Given the description of an element on the screen output the (x, y) to click on. 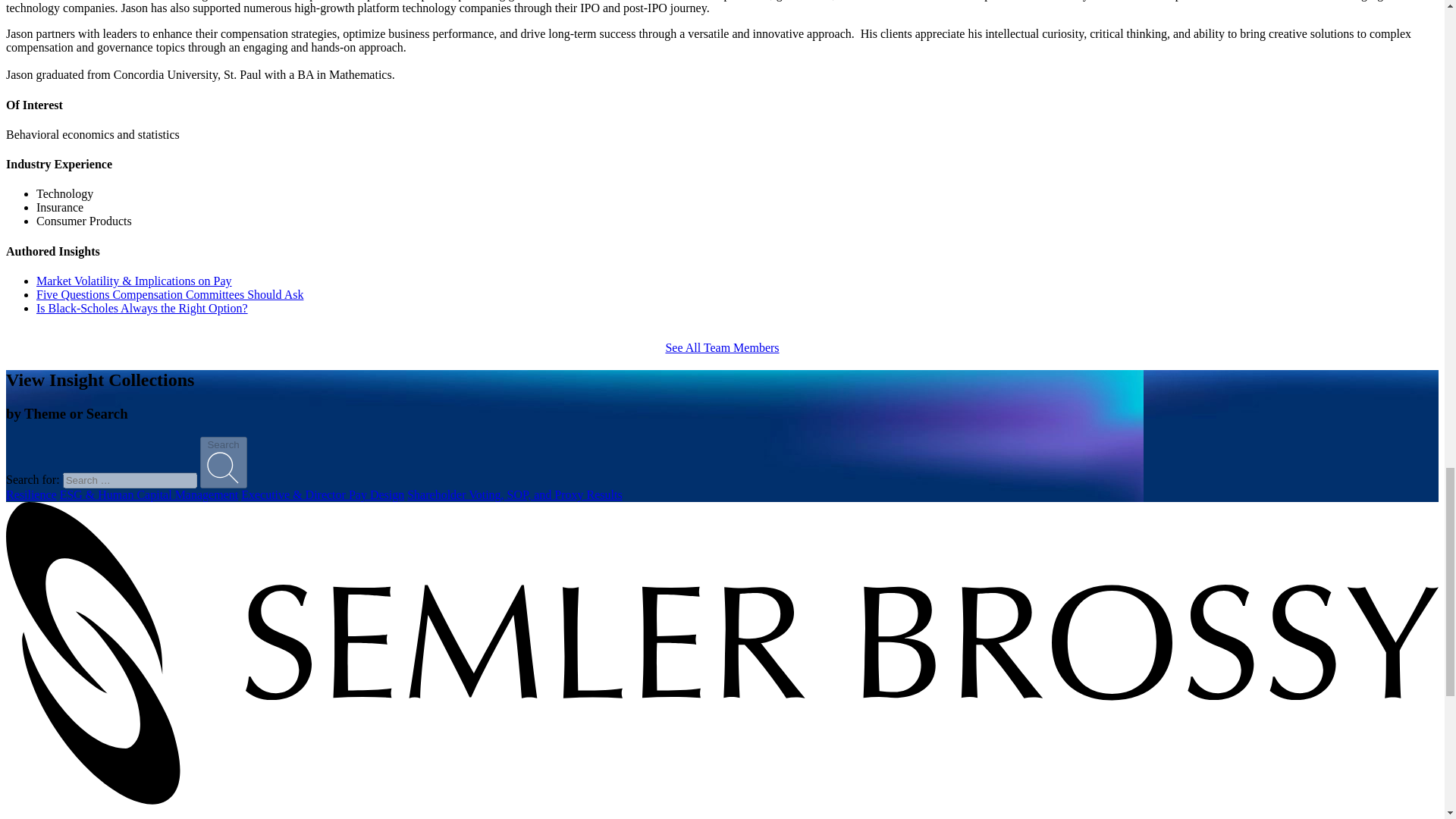
Search for: (129, 480)
